Given the description of an element on the screen output the (x, y) to click on. 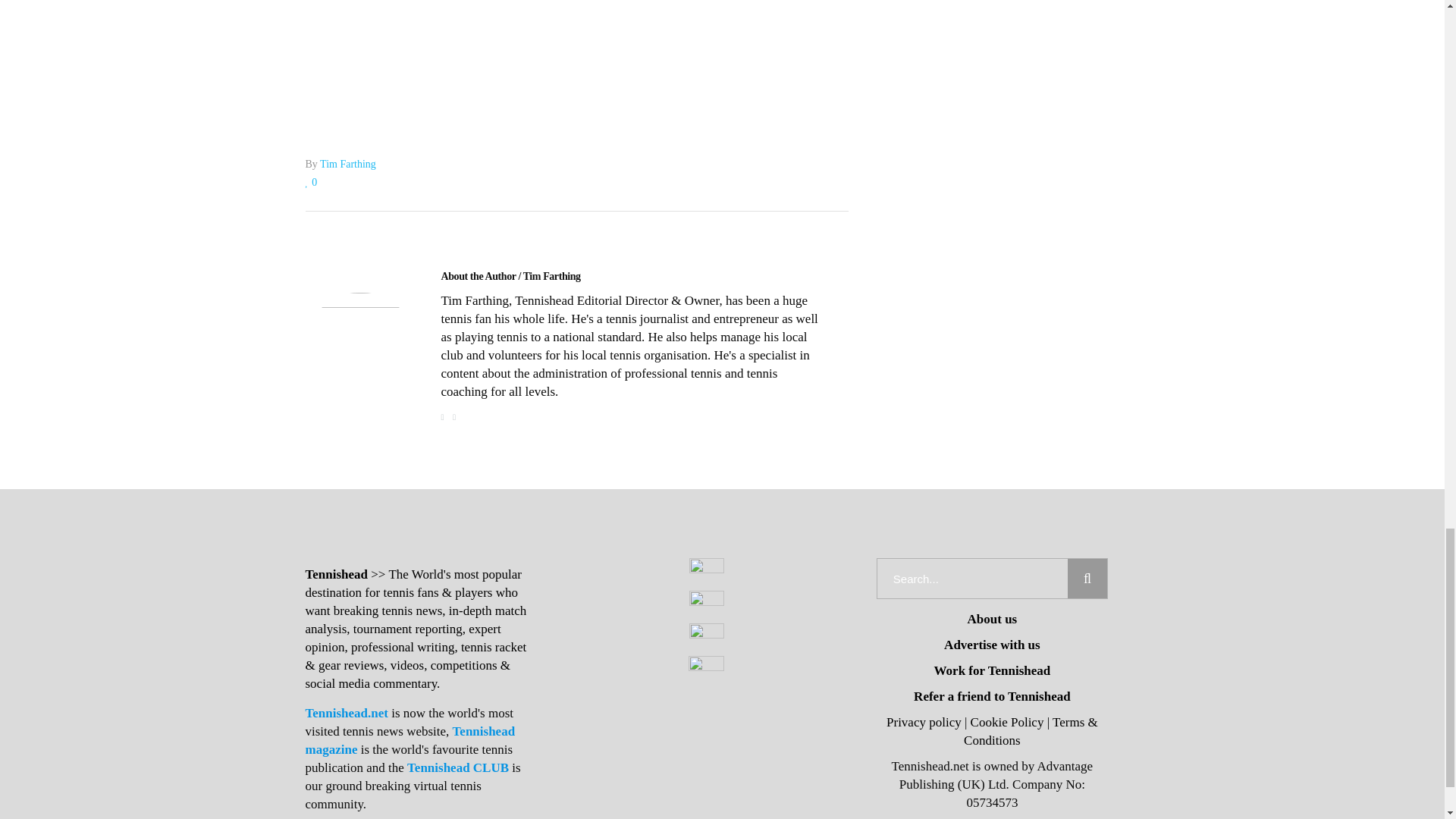
Search for: (972, 578)
Like this (310, 182)
TNNS Live Scores (576, 45)
